Given the description of an element on the screen output the (x, y) to click on. 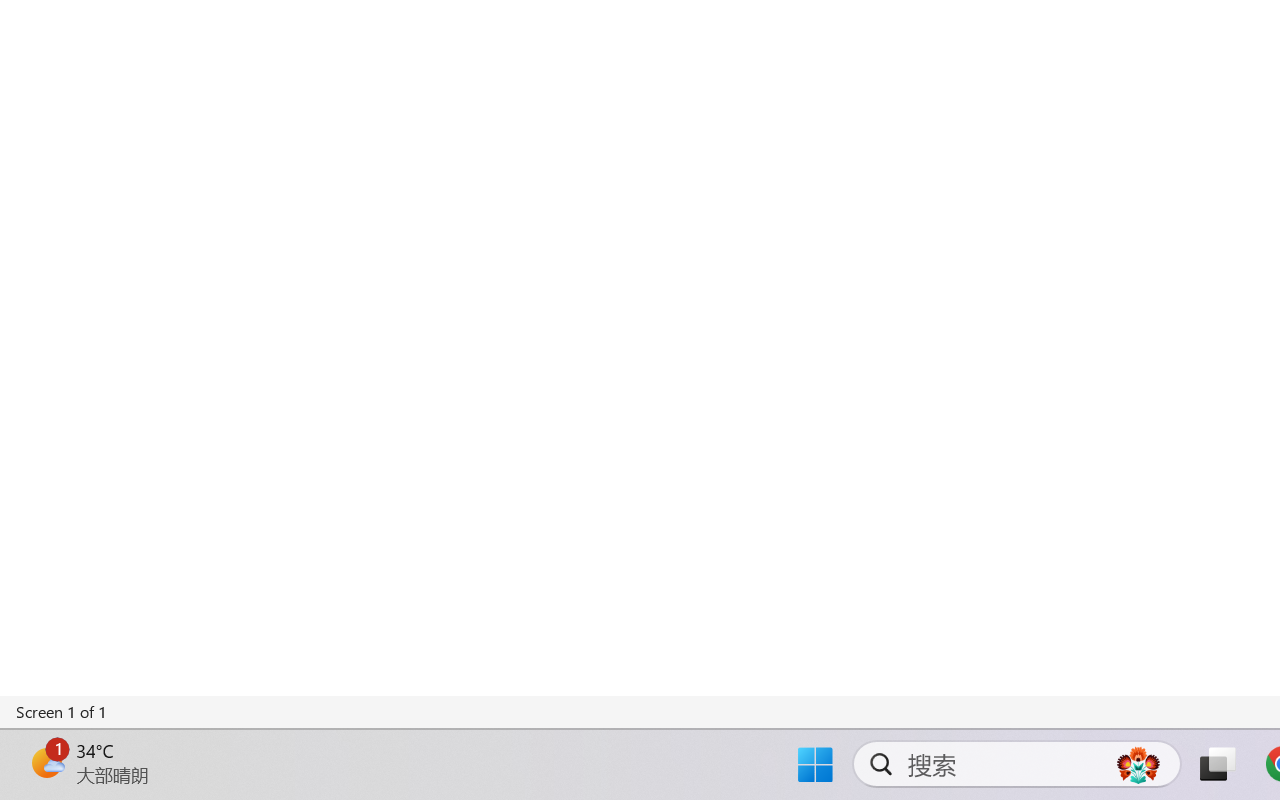
AutomationID: BadgeAnchorLargeTicker (46, 762)
AutomationID: DynamicSearchBoxGleamImage (1138, 764)
Page Number Screen 1 of 1  (62, 712)
